Given the description of an element on the screen output the (x, y) to click on. 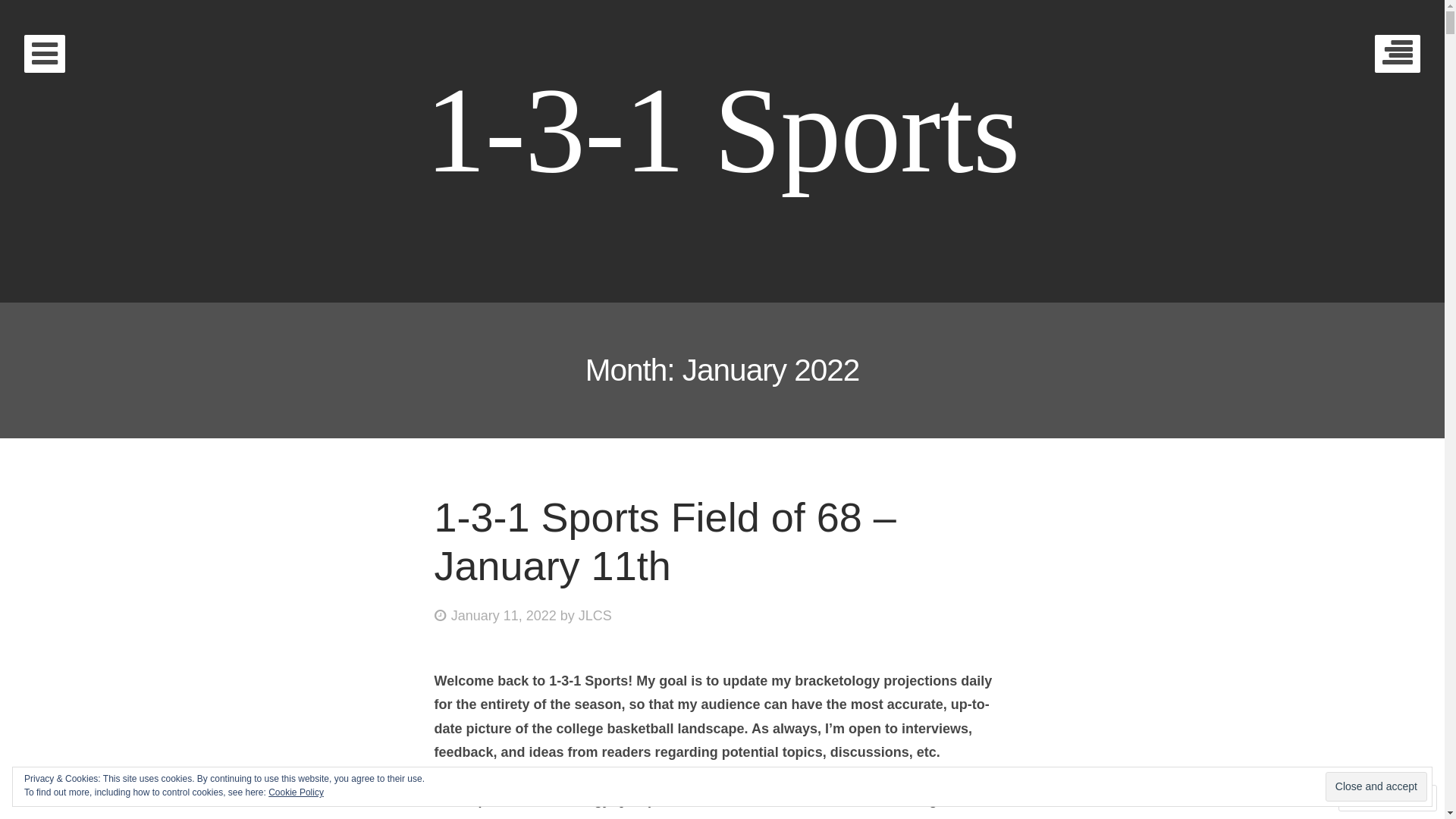
Follow Element type: text (1372, 797)
1-3-1 Sports Element type: text (722, 129)
Close and accept Element type: text (1376, 786)
Cookie Policy Element type: text (295, 792)
January 11, 2022 Element type: text (494, 615)
JLCS Element type: text (594, 615)
